Given the description of an element on the screen output the (x, y) to click on. 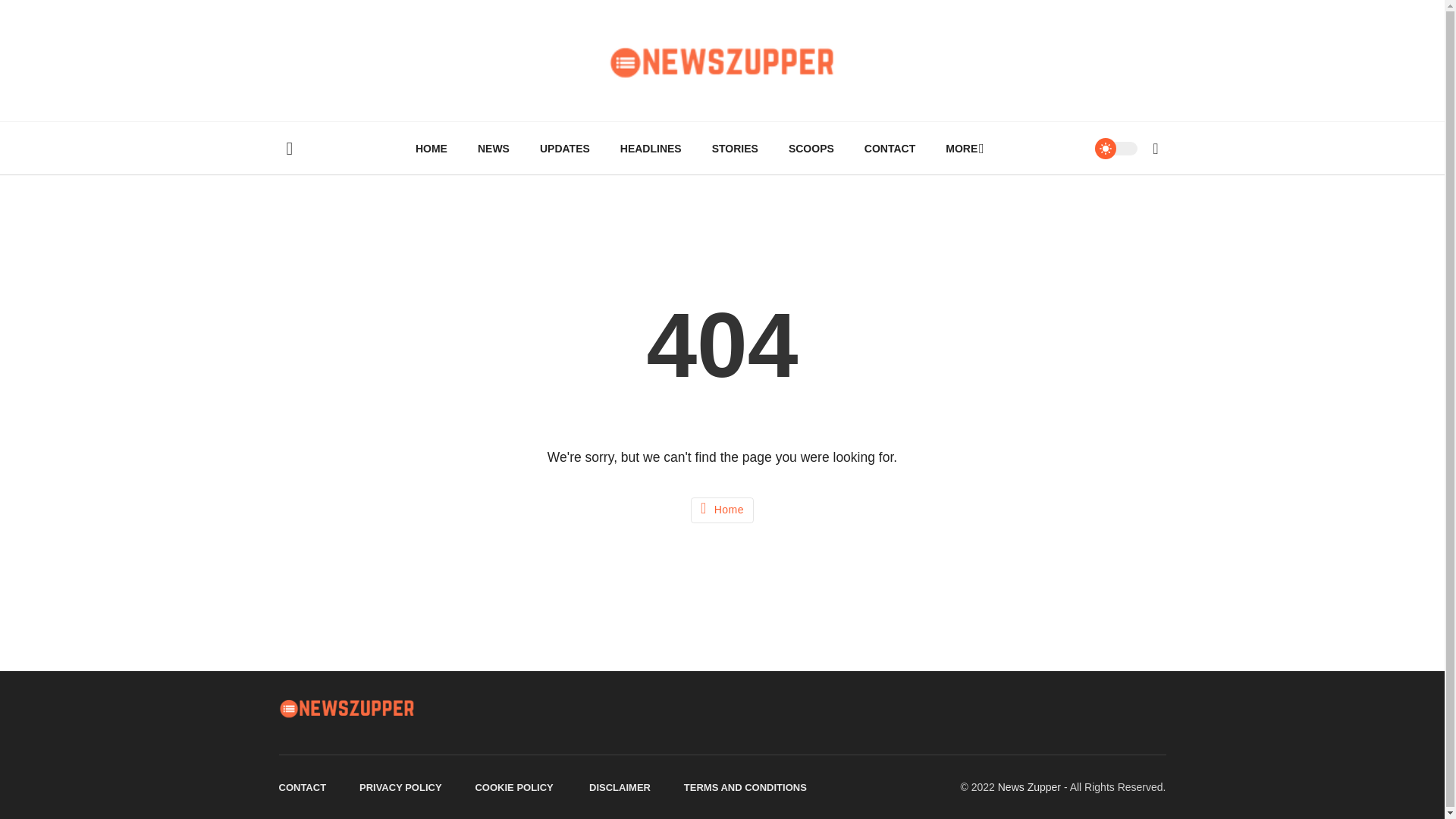
PRIVACY POLICY (400, 787)
STORIES (735, 148)
COOKIE POLICY  (515, 787)
NEWS (493, 148)
TERMS AND CONDITIONS (745, 787)
HEADLINES (651, 148)
UPDATES (564, 148)
MORE (962, 148)
CONTACT (889, 148)
Home (722, 510)
SCOOPS (810, 148)
HOME (431, 148)
DISCLAIMER (619, 787)
News Zupper (1029, 787)
CONTACT (302, 787)
